Given the description of an element on the screen output the (x, y) to click on. 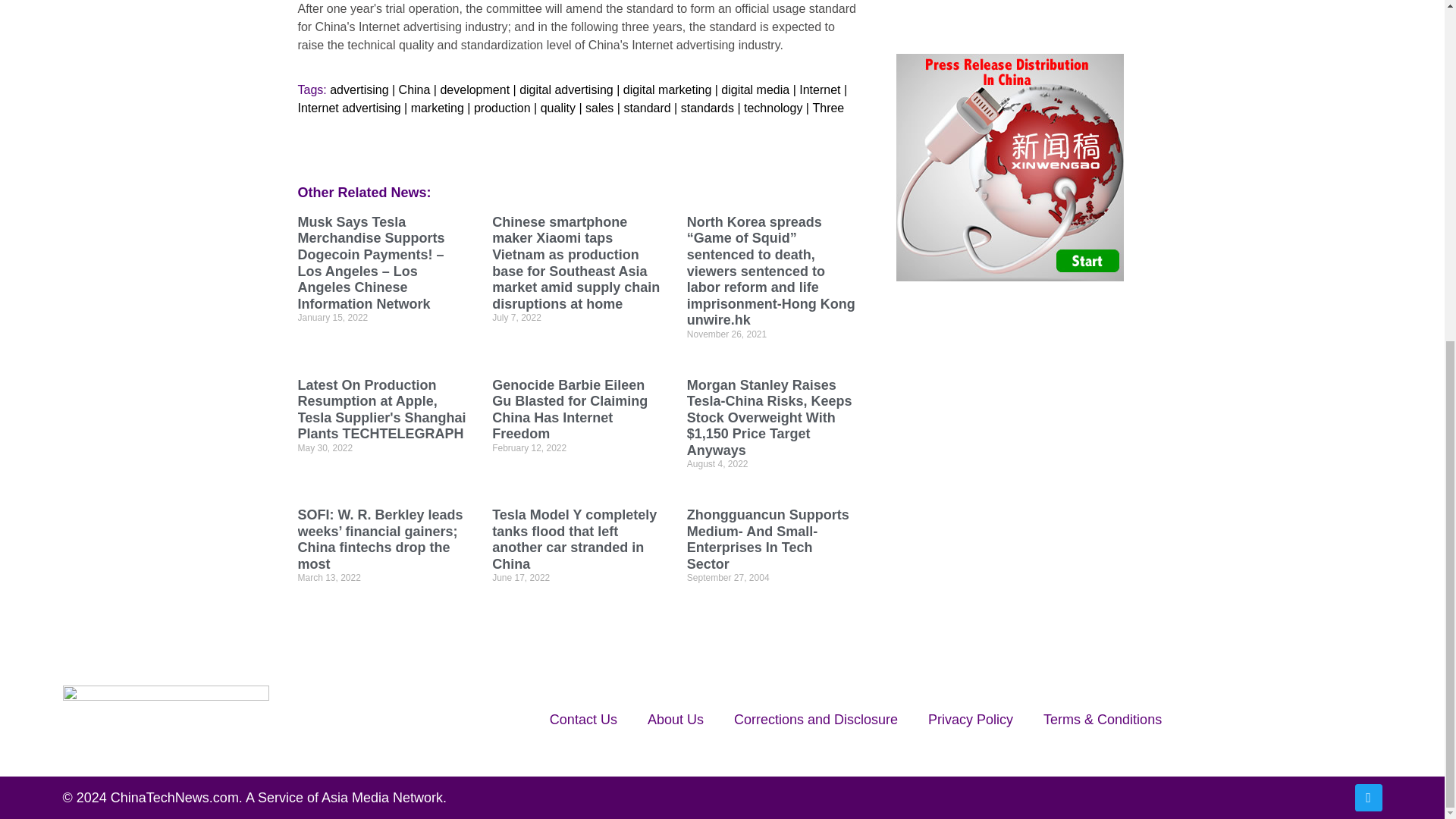
Internet advertising (348, 108)
development (474, 90)
sales (598, 108)
About Us (675, 719)
digital advertising (565, 90)
Privacy Policy (969, 719)
Internet (819, 90)
standards (707, 108)
Three (828, 108)
digital media (754, 90)
advertising (359, 90)
